Given the description of an element on the screen output the (x, y) to click on. 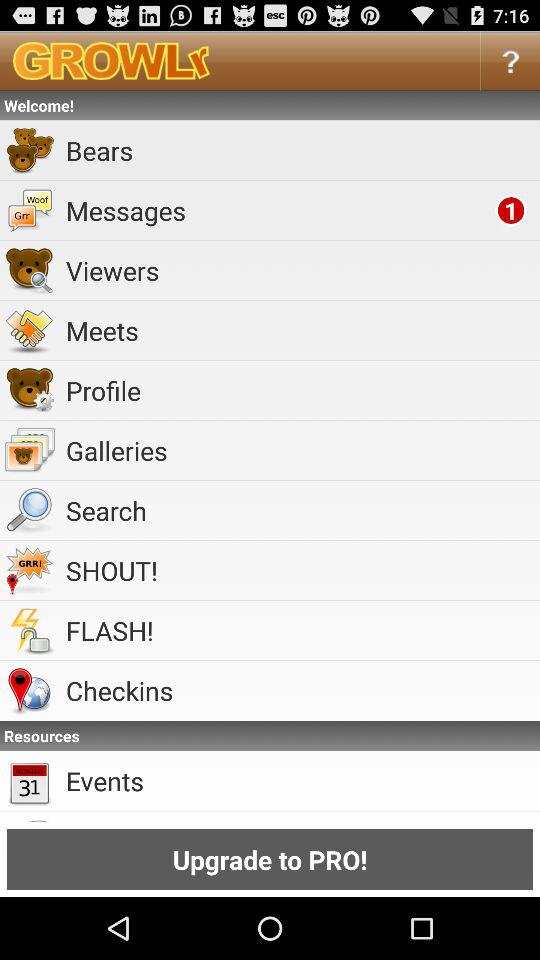
tap app next to the 1 (277, 210)
